Given the description of an element on the screen output the (x, y) to click on. 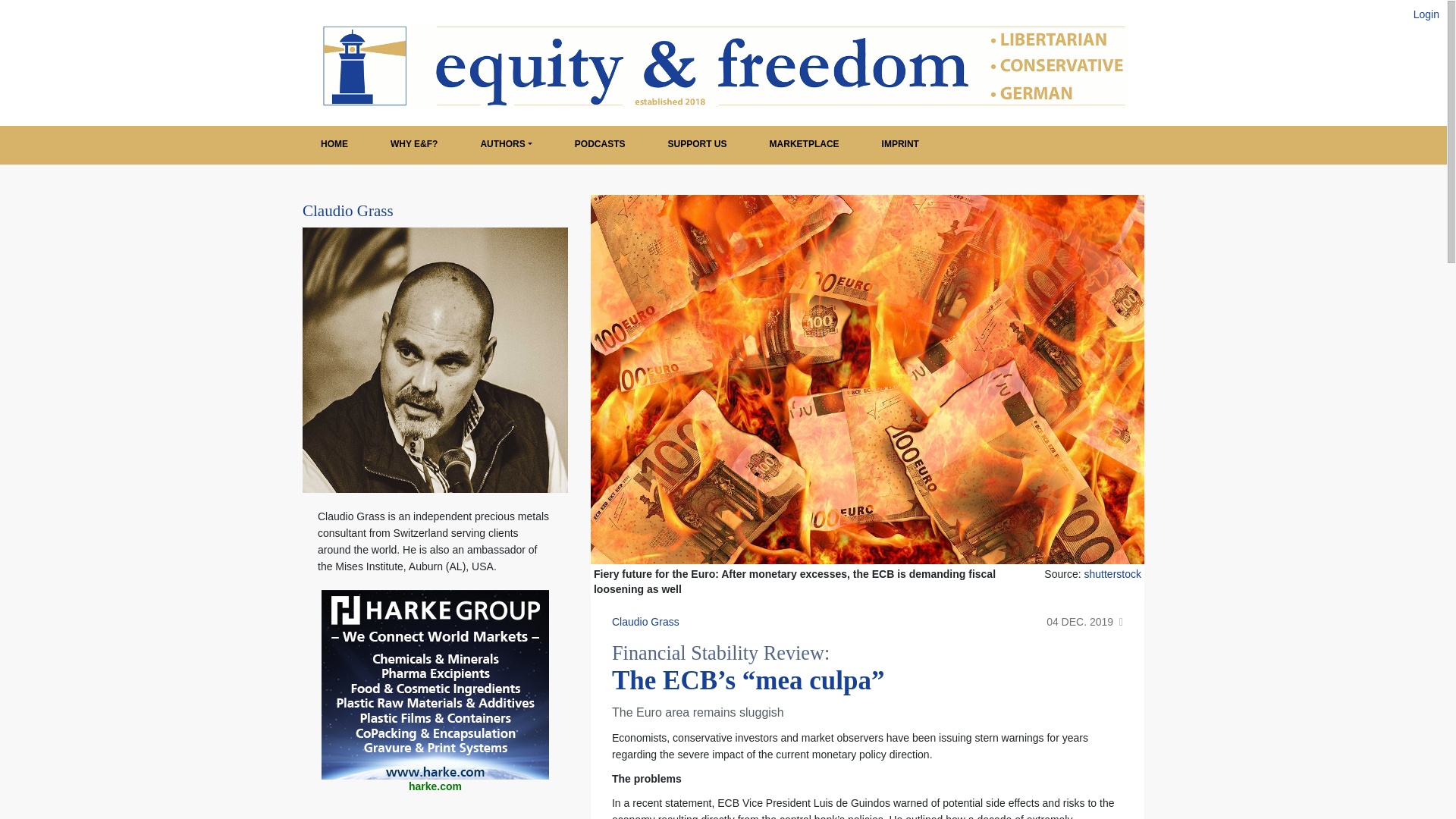
IMPRINT (900, 145)
MARKETPLACE (803, 145)
SUPPORT US (697, 145)
AUTHORS (505, 145)
Login (1426, 14)
PODCASTS (600, 145)
Claudio Grass (347, 210)
shutterstock (1112, 573)
harke.com (434, 786)
HOME (333, 145)
